Given the description of an element on the screen output the (x, y) to click on. 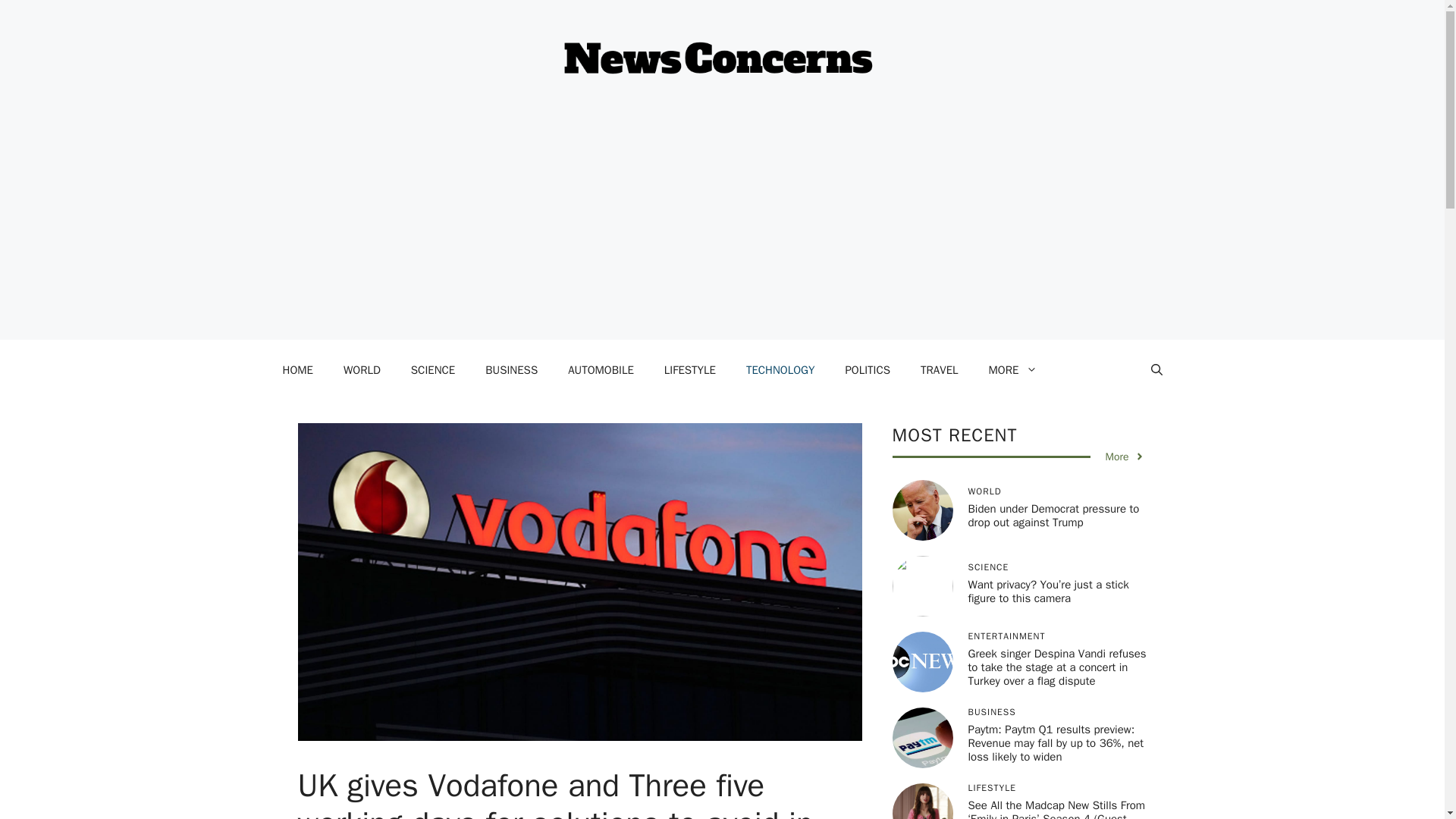
More (1124, 456)
LIFESTYLE (689, 370)
WORLD (362, 370)
MORE (1013, 370)
TRAVEL (938, 370)
AUTOMOBILE (601, 370)
POLITICS (867, 370)
Biden under Democrat pressure to drop out against Trump (1053, 515)
TECHNOLOGY (779, 370)
SCIENCE (433, 370)
HOME (296, 370)
BUSINESS (511, 370)
